Given the description of an element on the screen output the (x, y) to click on. 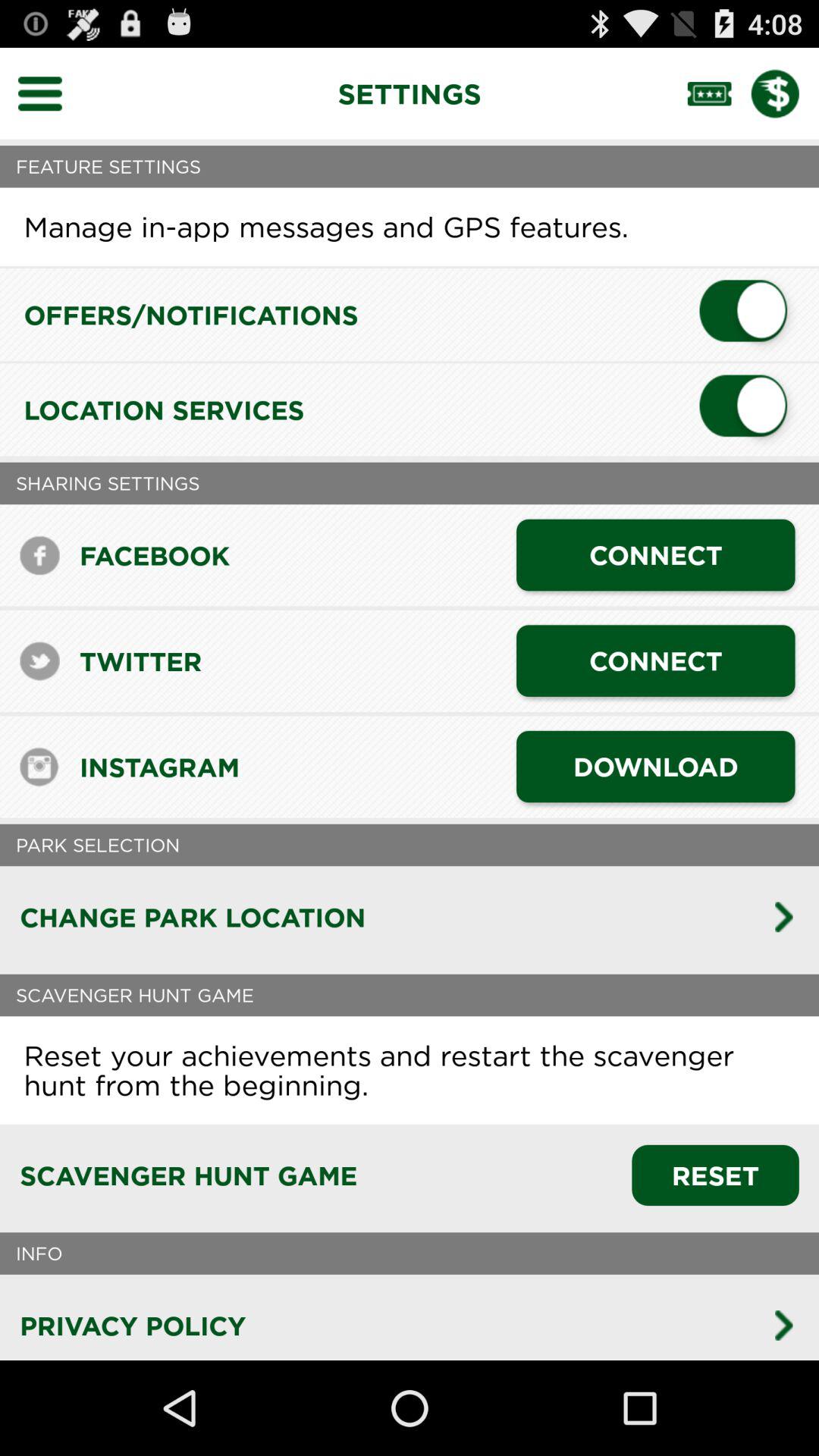
tickets (719, 93)
